Given the description of an element on the screen output the (x, y) to click on. 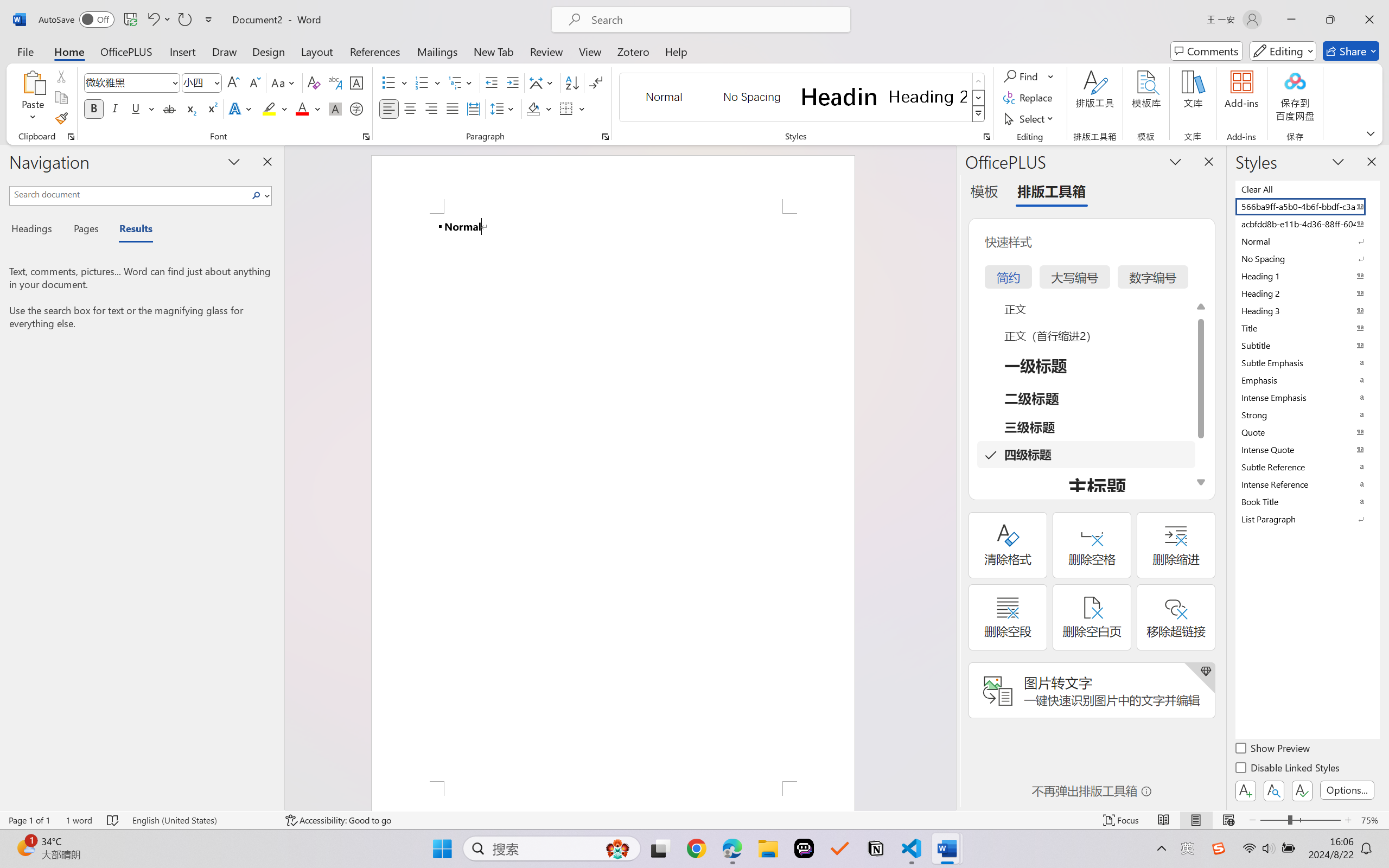
Subscript (190, 108)
Italic (115, 108)
Borders (566, 108)
Pages (85, 229)
Font Color (308, 108)
Cut (60, 75)
Close (1369, 19)
Page Number Page 1 of 1 (29, 819)
Asian Layout (542, 82)
Focus  (1121, 819)
